Given the description of an element on the screen output the (x, y) to click on. 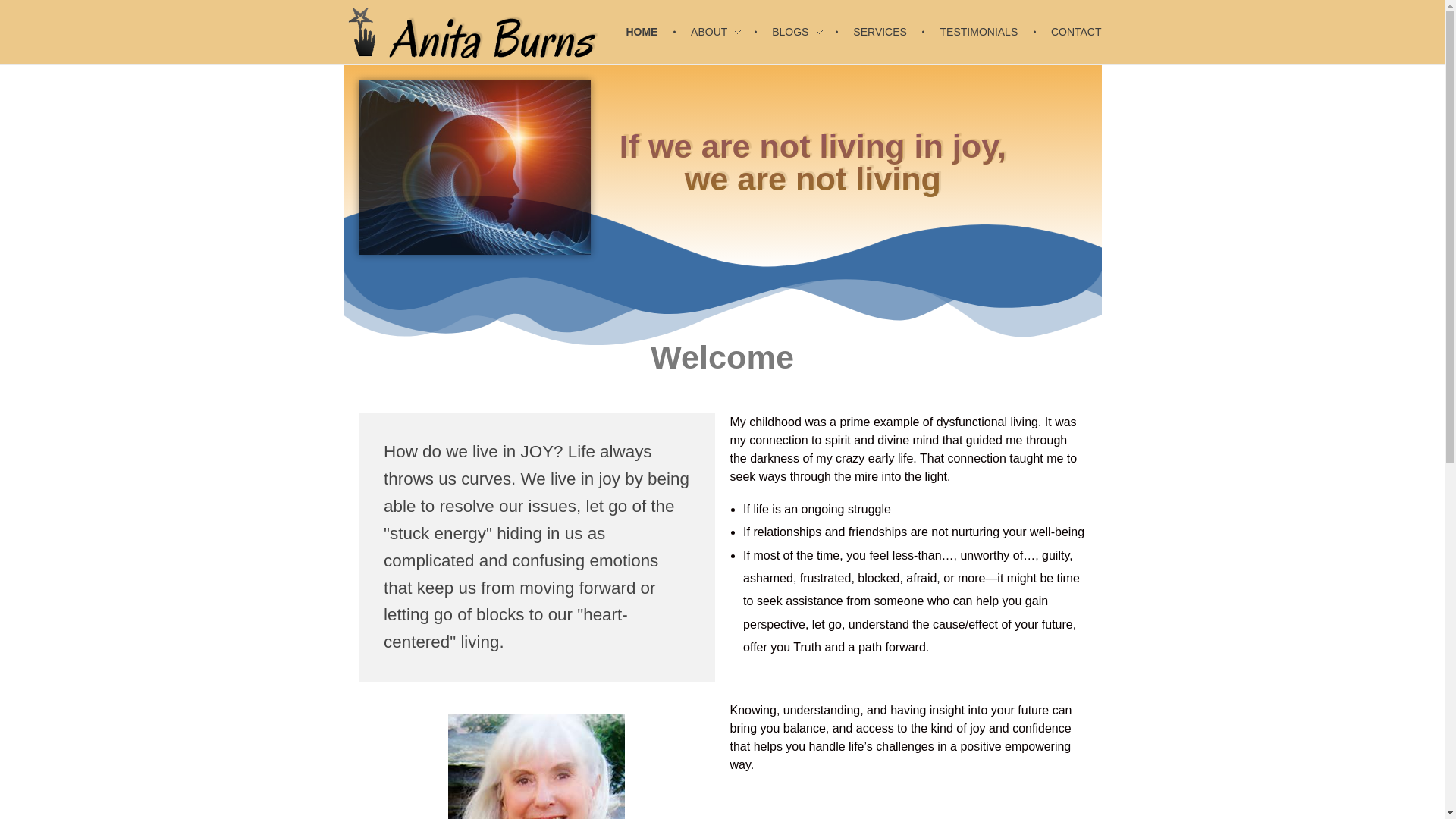
BLOGS (799, 32)
CONTACT (1069, 32)
ABOUT (717, 32)
TESTIMONIALS (981, 32)
anitaburns.info-hero-left-1024px (474, 167)
SERVICES (883, 32)
